Given the description of an element on the screen output the (x, y) to click on. 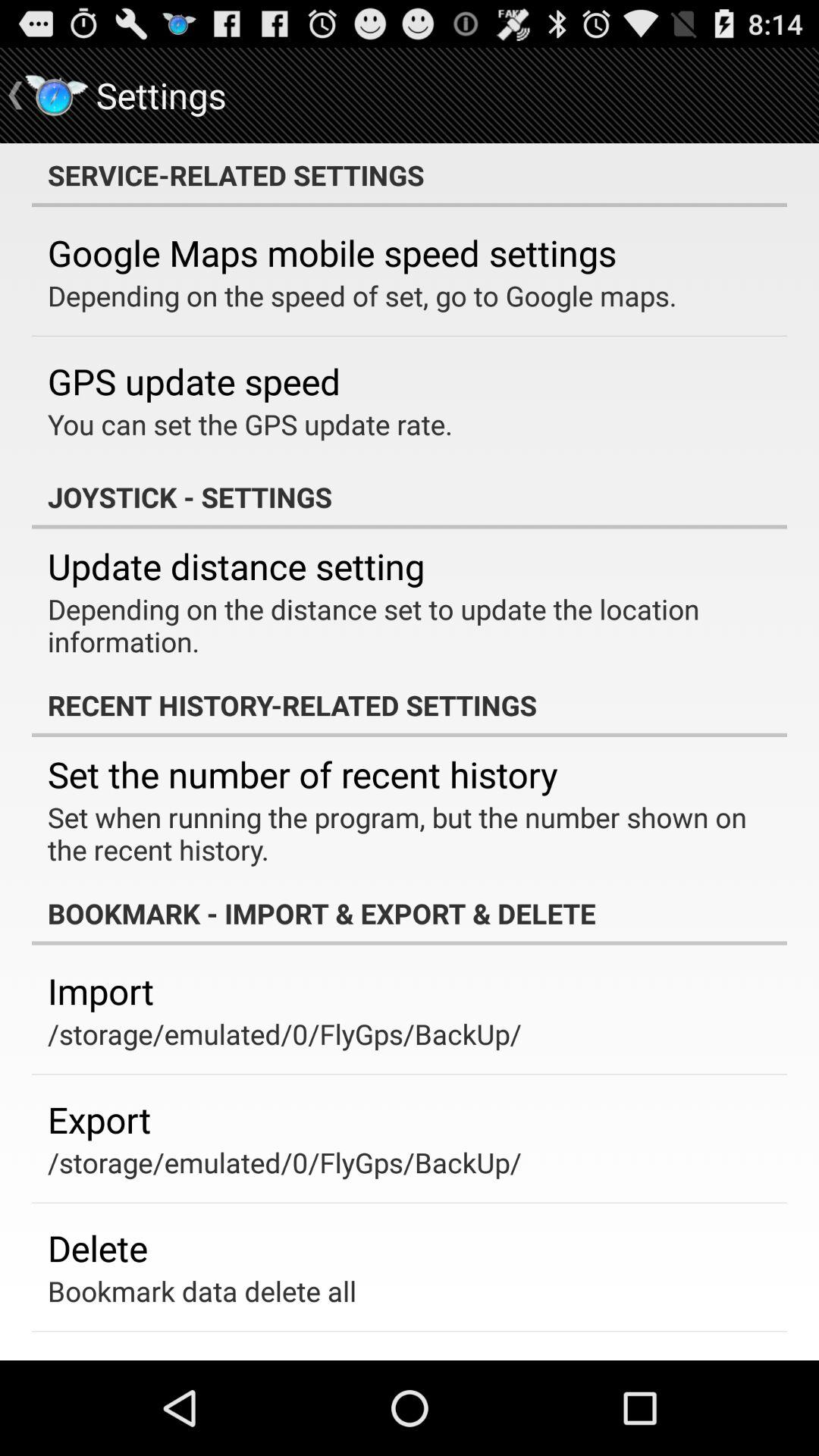
flip until you can set (249, 424)
